Given the description of an element on the screen output the (x, y) to click on. 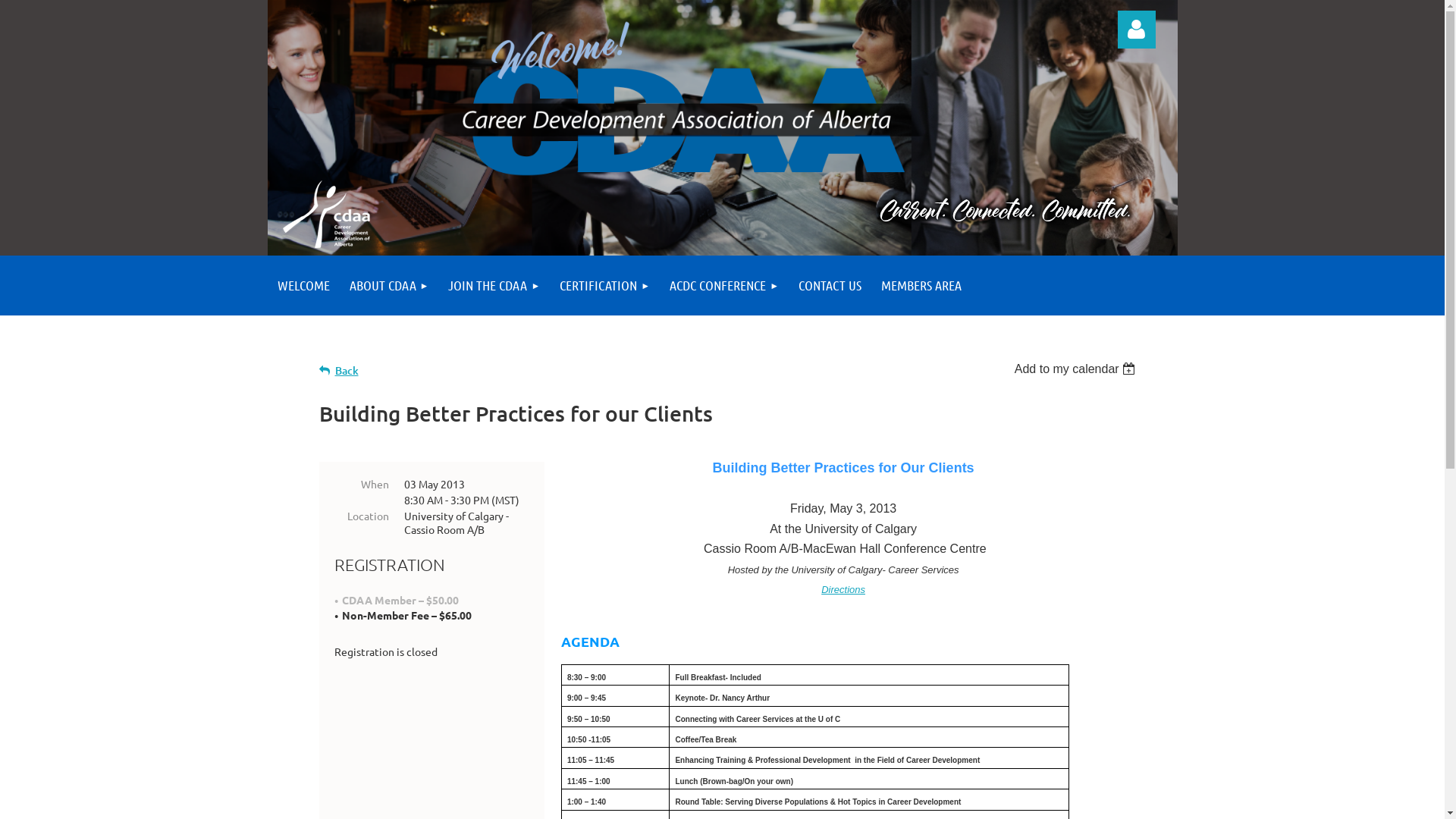
ABOUT CDAA Element type: text (389, 285)
Back Element type: text (337, 370)
CONTACT US Element type: text (829, 285)
JOIN THE CDAA Element type: text (493, 285)
Log in Element type: text (1136, 29)
ACDC CONFERENCE Element type: text (723, 285)
WELCOME Element type: text (302, 285)
Directions Element type: text (843, 588)
CERTIFICATION Element type: text (604, 285)
MEMBERS AREA Element type: text (921, 285)
